Given the description of an element on the screen output the (x, y) to click on. 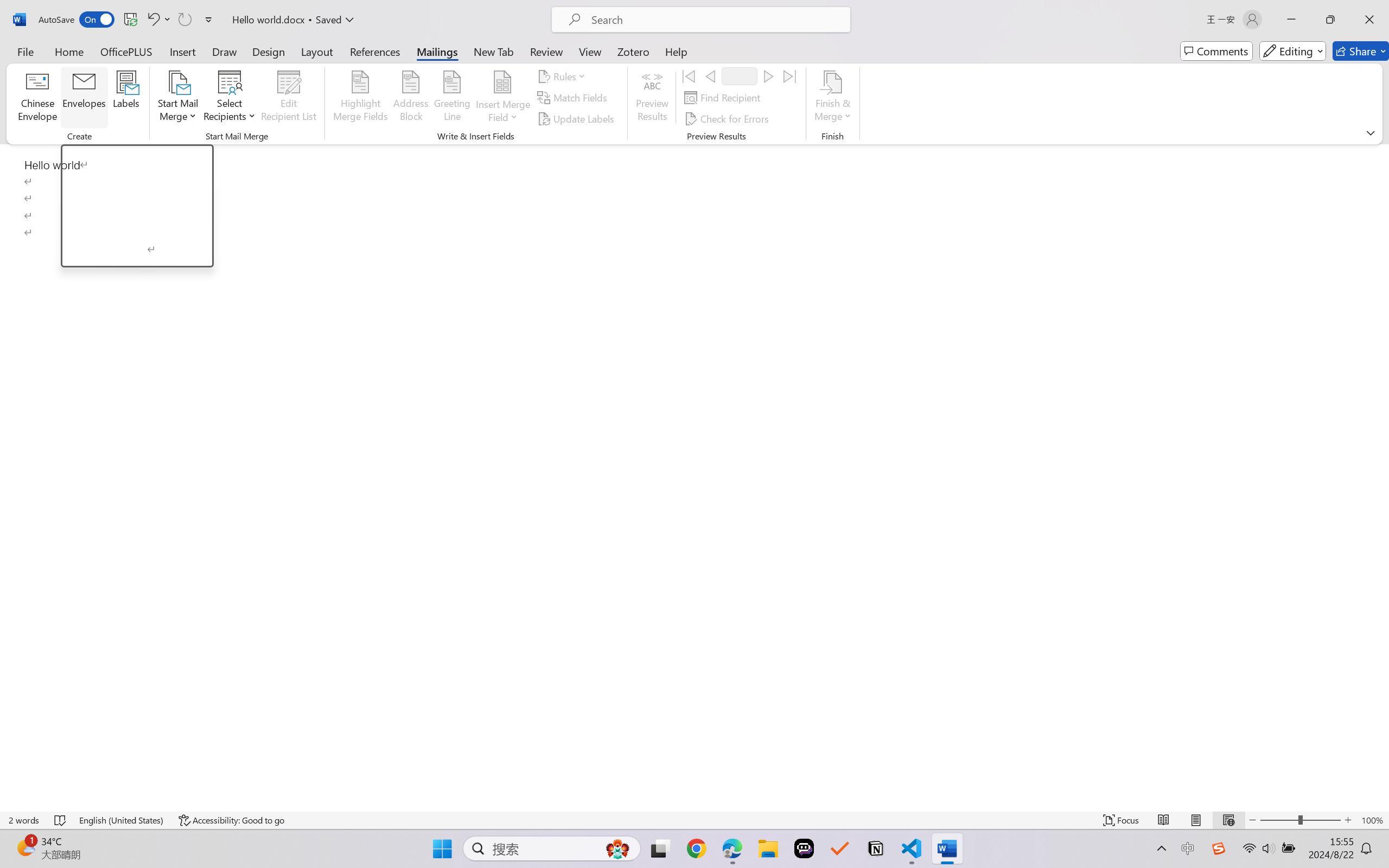
Record (739, 76)
Comments (1216, 50)
Can't Repeat (184, 19)
Class: MsoCommandBar (694, 72)
AutoSave (76, 19)
Ribbon Display Options (1370, 132)
Layout (316, 51)
View (589, 51)
AutomationID: DynamicSearchBoxGleamImage (617, 848)
Draw (224, 51)
Undo Click and Type Formatting (152, 19)
Class: Image (1218, 847)
Help (675, 51)
Previous (709, 75)
Address Block... (410, 97)
